Given the description of an element on the screen output the (x, y) to click on. 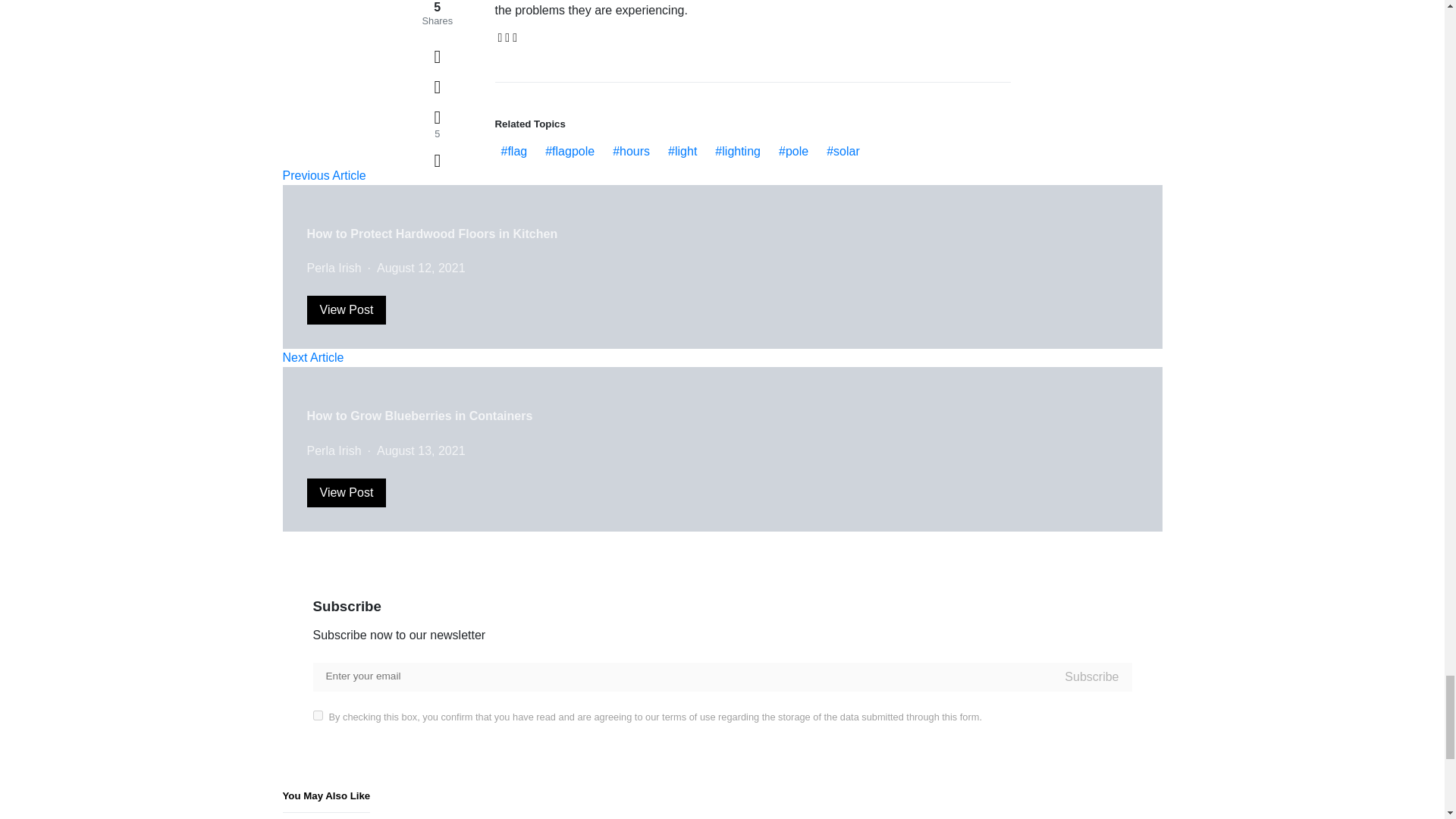
View all posts by Perla Irish (333, 450)
View all posts by Perla Irish (333, 267)
on (317, 715)
